Given the description of an element on the screen output the (x, y) to click on. 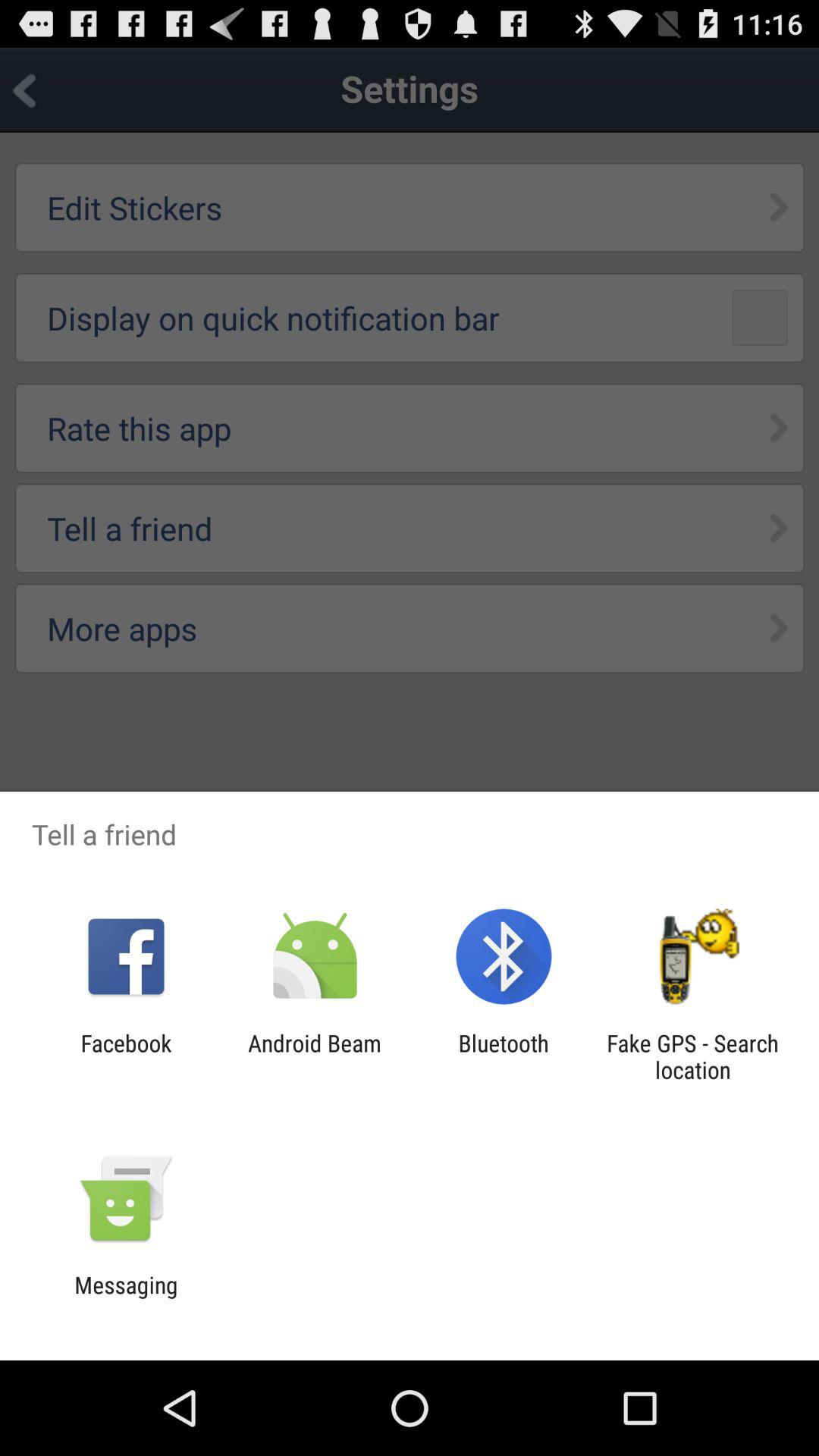
select item to the left of the android beam item (125, 1056)
